Given the description of an element on the screen output the (x, y) to click on. 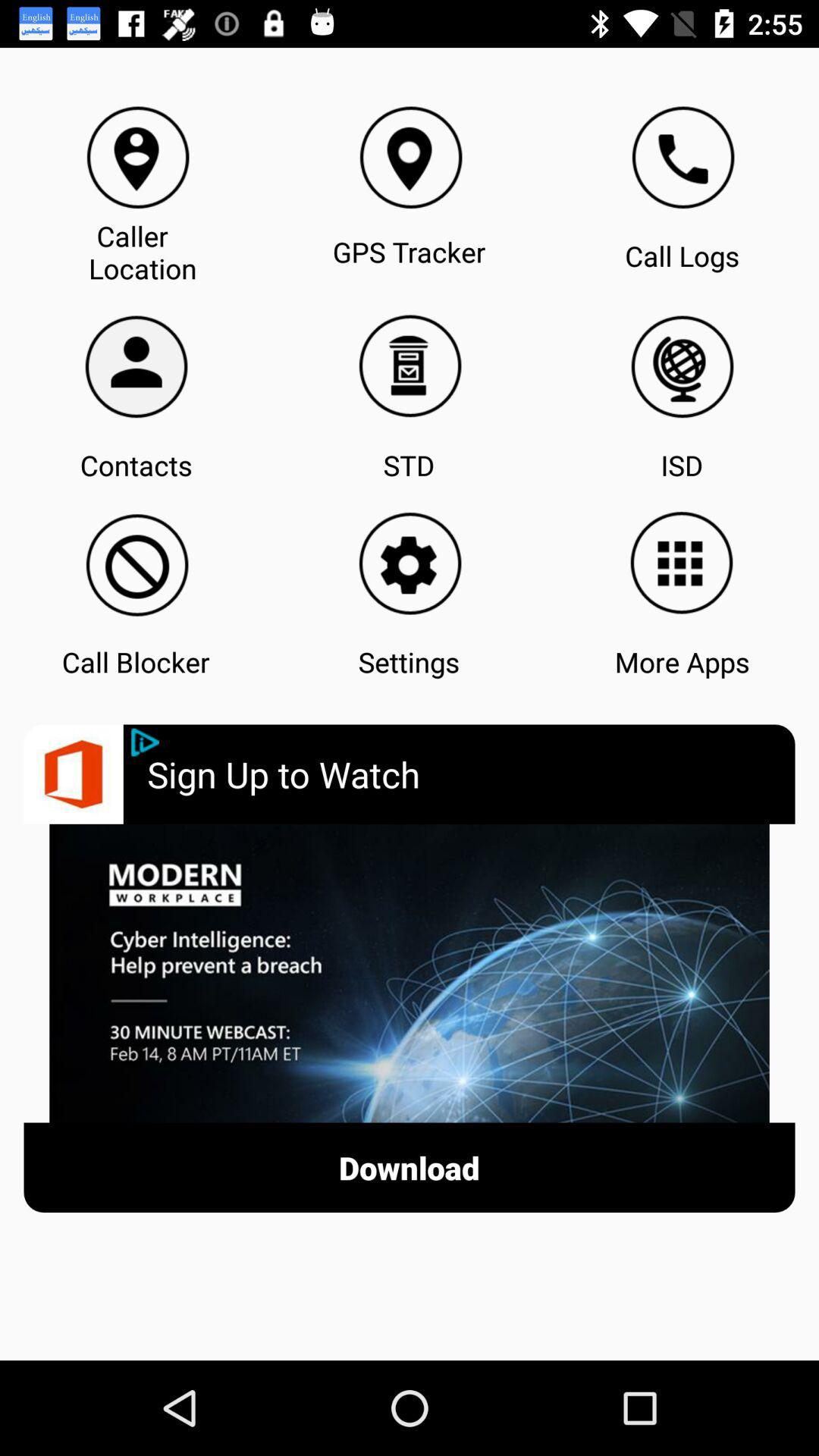
launch the app below the call blocker (145, 742)
